Given the description of an element on the screen output the (x, y) to click on. 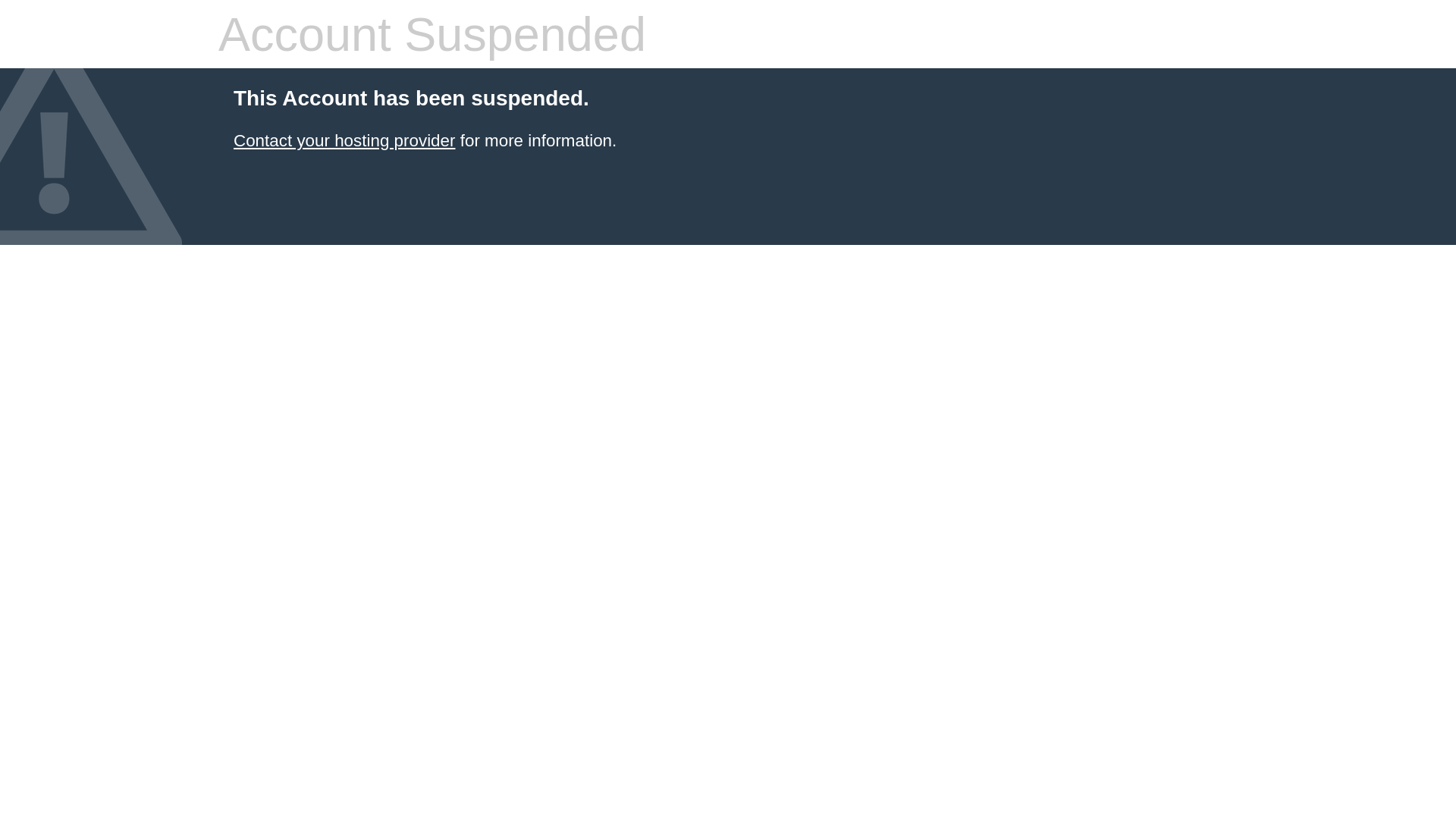
Contact your hosting provider Element type: text (344, 140)
